Given the description of an element on the screen output the (x, y) to click on. 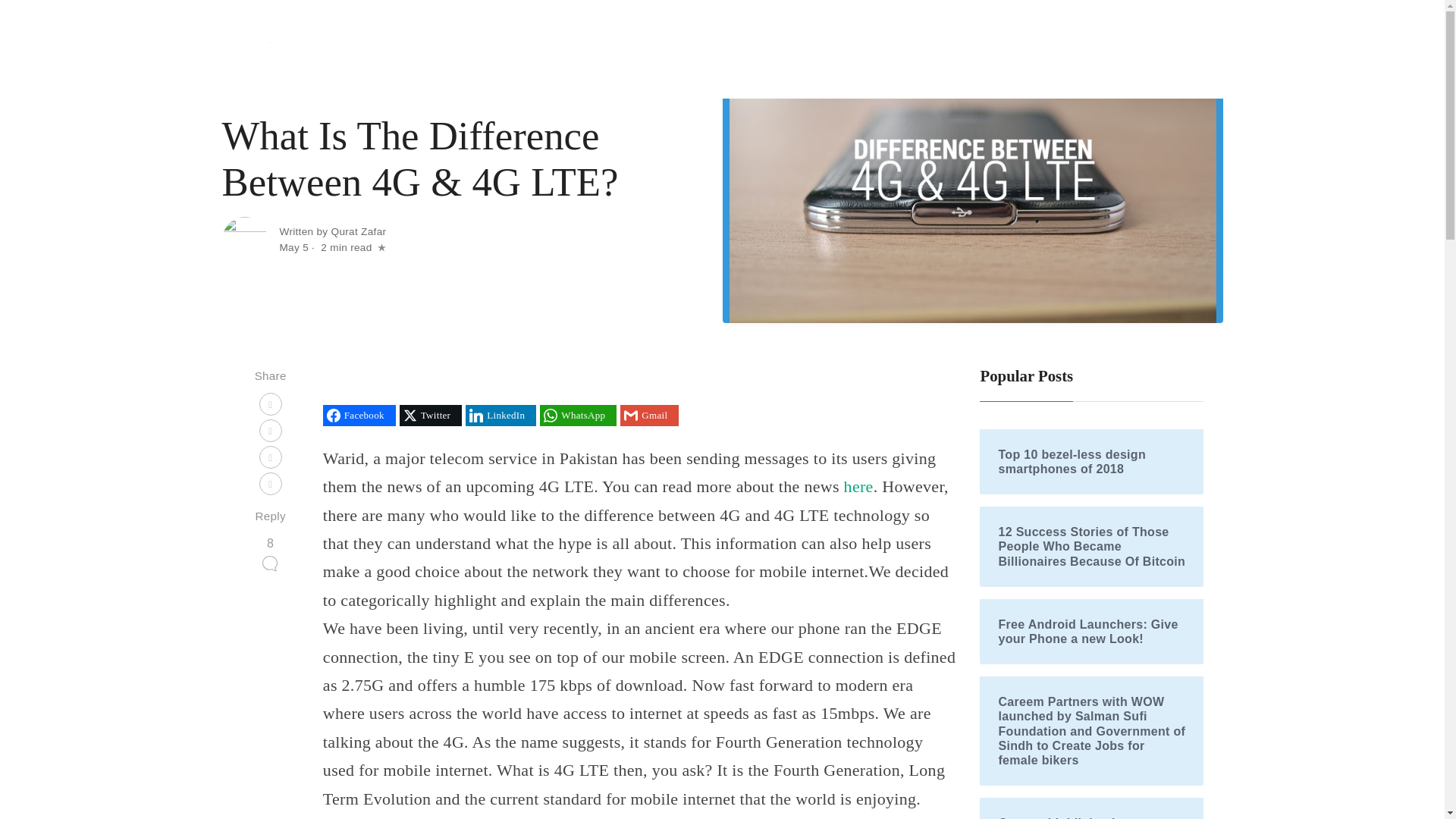
Share on Twitter (429, 414)
MOBILE (321, 90)
Technology (849, 49)
Share on Facebook (359, 414)
Facebook (359, 414)
Share on WhatsApp (577, 414)
Mobile (972, 49)
NEWS (371, 90)
Investment (1037, 49)
Share on LinkedIn (500, 414)
Share on Gmail (649, 414)
Startups (914, 49)
Written by Qurat Zafar (332, 231)
Online Earning (1116, 49)
Writers (1192, 49)
